Given the description of an element on the screen output the (x, y) to click on. 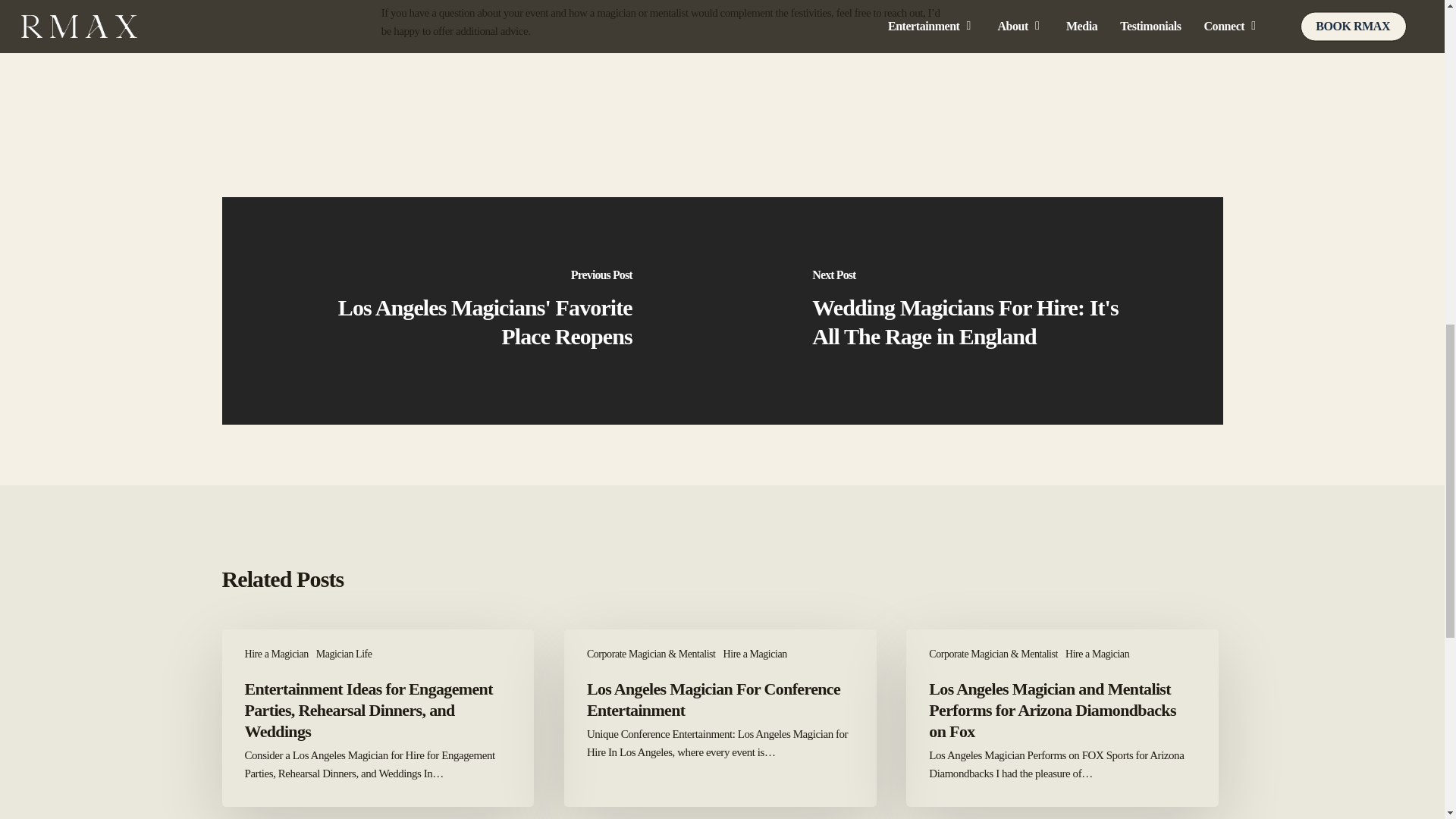
Hire a Magician (1097, 654)
Hire a Magician (275, 654)
Hire a Magician (755, 654)
Magician Life (343, 654)
